Given the description of an element on the screen output the (x, y) to click on. 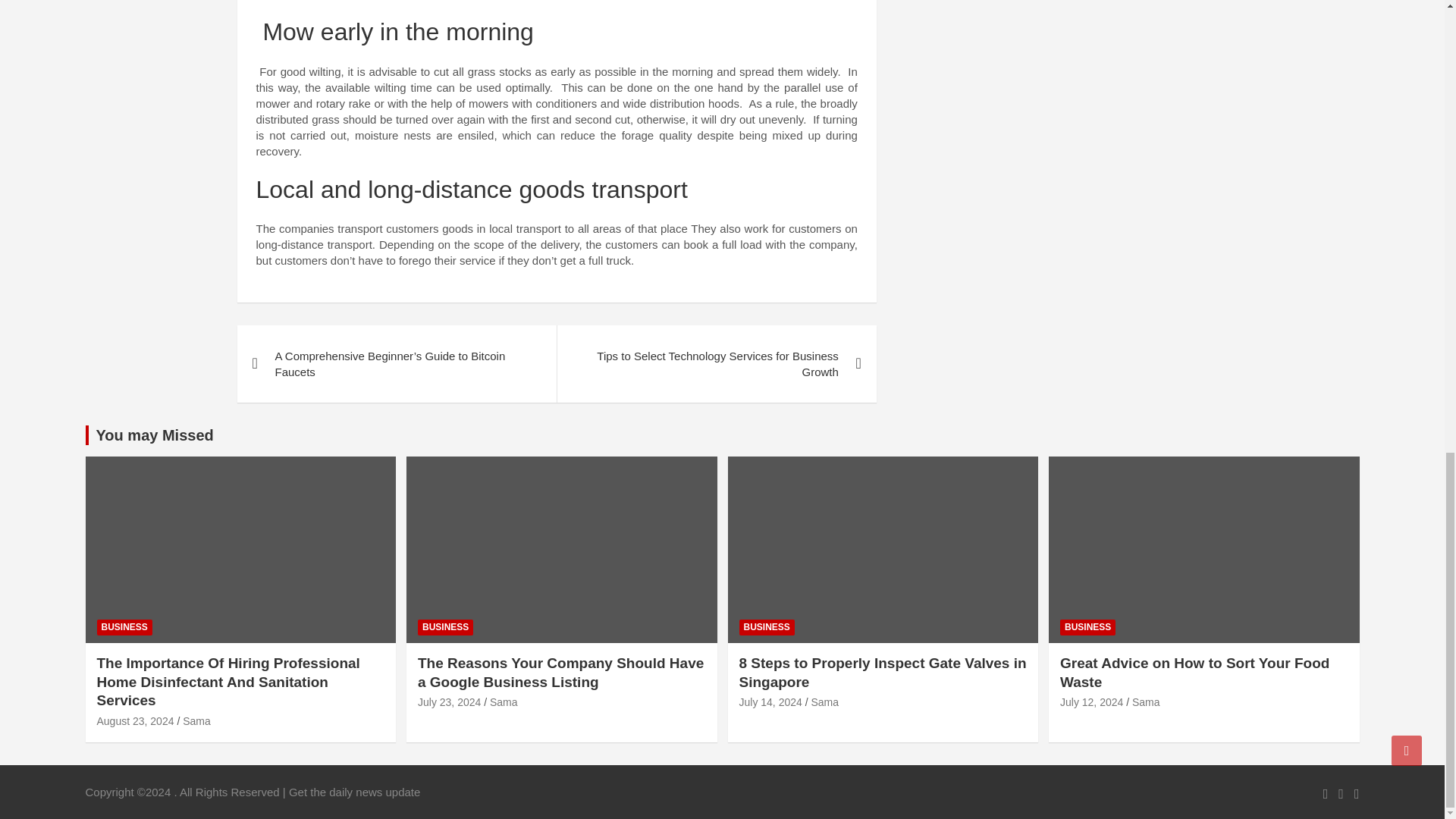
Tips to Select Technology Services for Business Growth (716, 363)
8 Steps to Properly Inspect Gate Valves in Singapore (882, 672)
July 14, 2024 (770, 702)
August 23, 2024 (135, 720)
8 Steps to Properly Inspect Gate Valves in Singapore (770, 702)
BUSINESS (765, 627)
You may Missed (154, 434)
Sama (824, 702)
Sama (503, 702)
BUSINESS (124, 627)
